Given the description of an element on the screen output the (x, y) to click on. 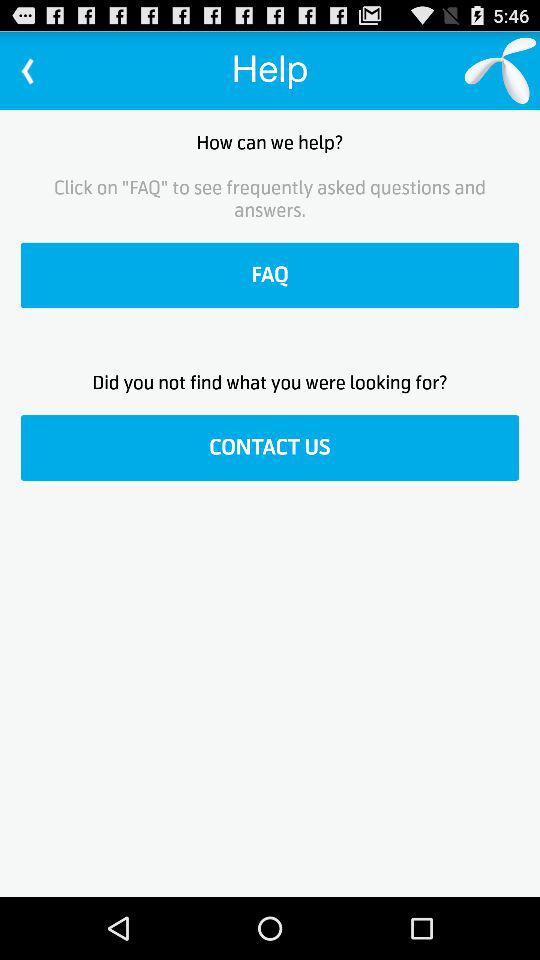
tap contact us (270, 447)
